Given the description of an element on the screen output the (x, y) to click on. 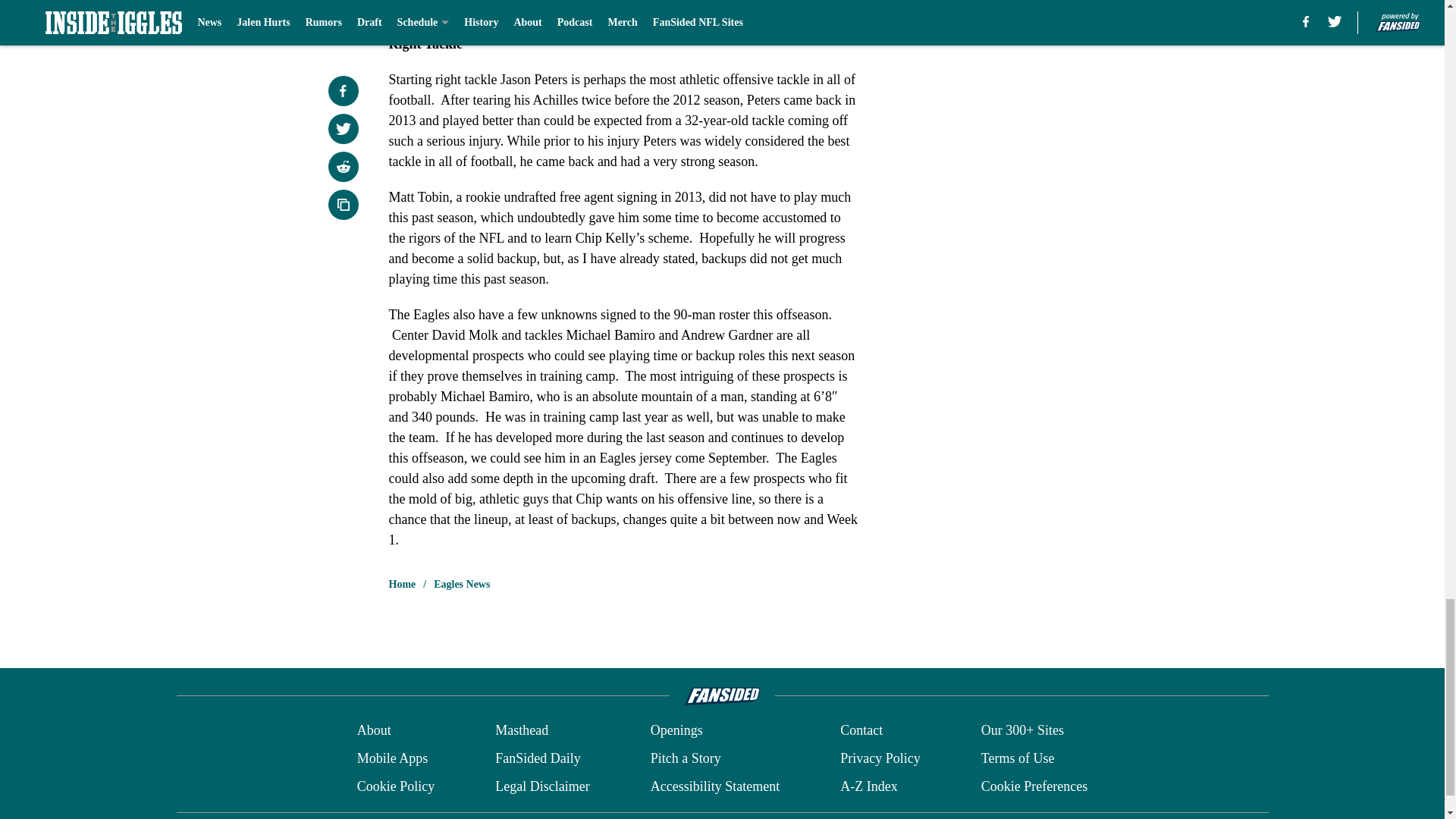
Accessibility Statement (714, 786)
Openings (676, 730)
Eagles News (461, 584)
About (373, 730)
Cookie Preferences (1034, 786)
Terms of Use (1017, 758)
Cookie Policy (395, 786)
FanSided Daily (537, 758)
Pitch a Story (685, 758)
A-Z Index (868, 786)
Legal Disclaimer (542, 786)
Home (401, 584)
Mobile Apps (392, 758)
Masthead (521, 730)
Privacy Policy (880, 758)
